Given the description of an element on the screen output the (x, y) to click on. 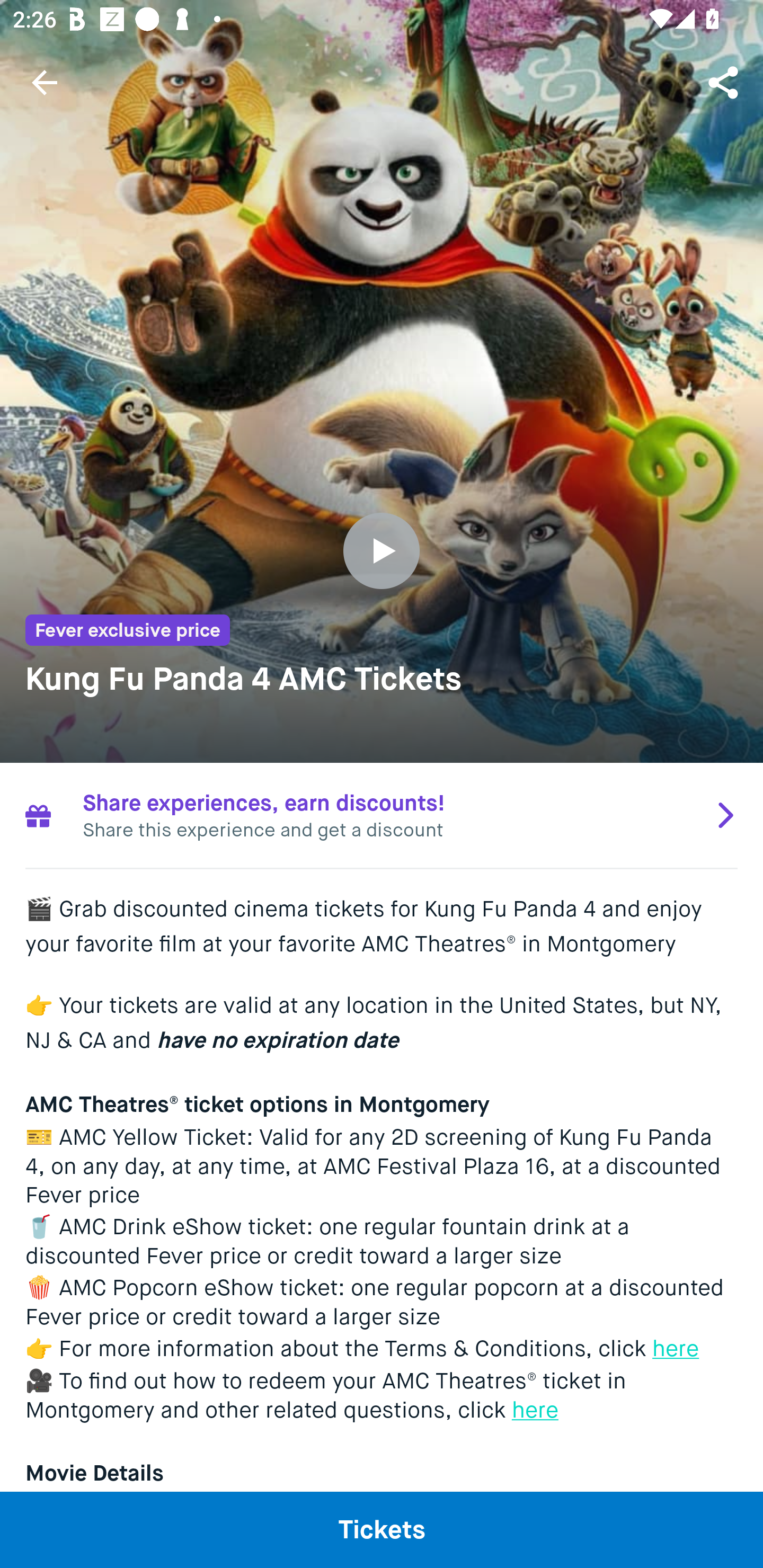
Navigate up (44, 82)
Share (724, 81)
Tickets (381, 1529)
